Given the description of an element on the screen output the (x, y) to click on. 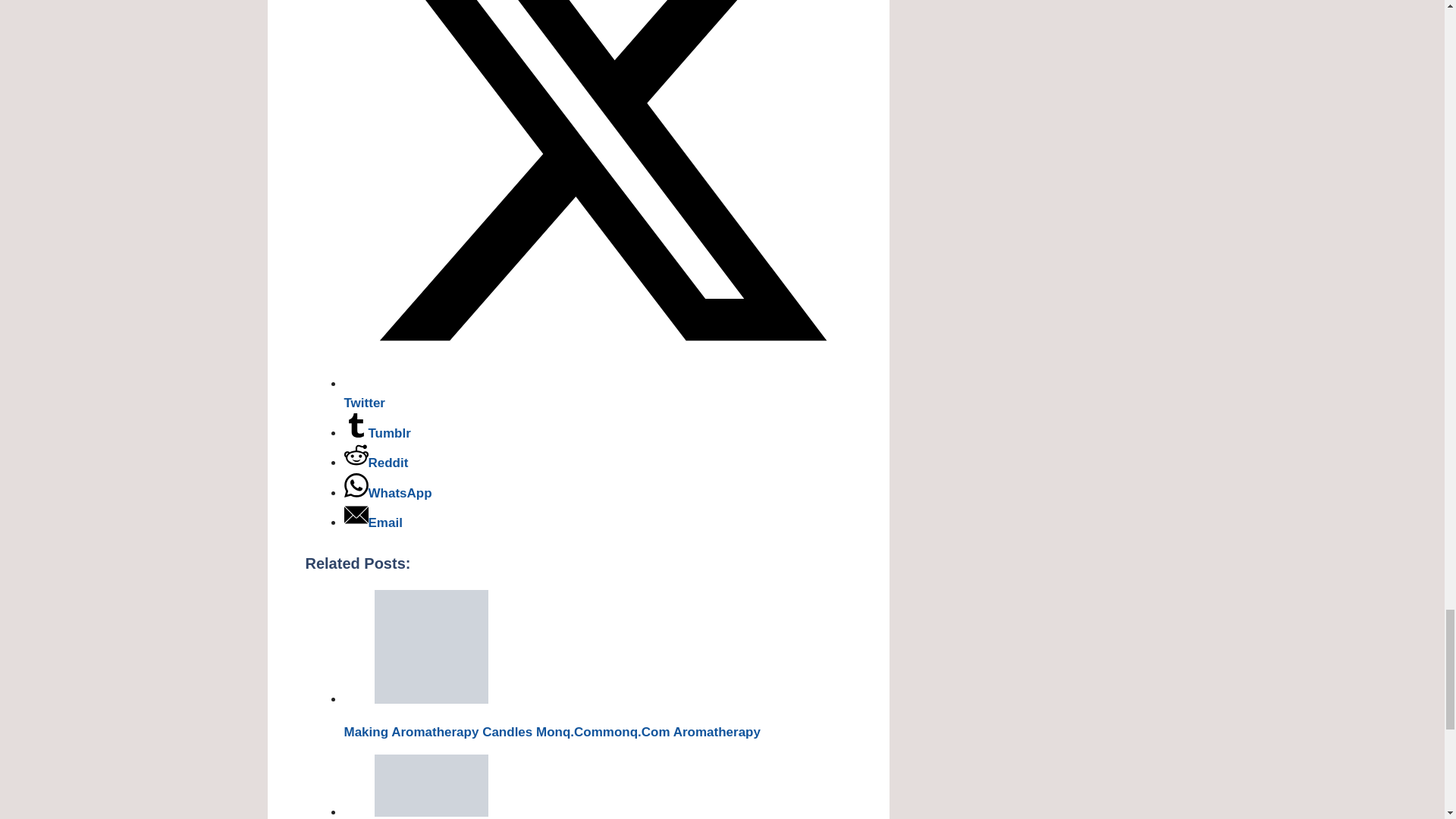
Share on Twitter (597, 392)
Share on Email (373, 522)
Share on Reddit (376, 462)
Share on Tumblr (376, 432)
Share on WhatsApp (387, 492)
